Given the description of an element on the screen output the (x, y) to click on. 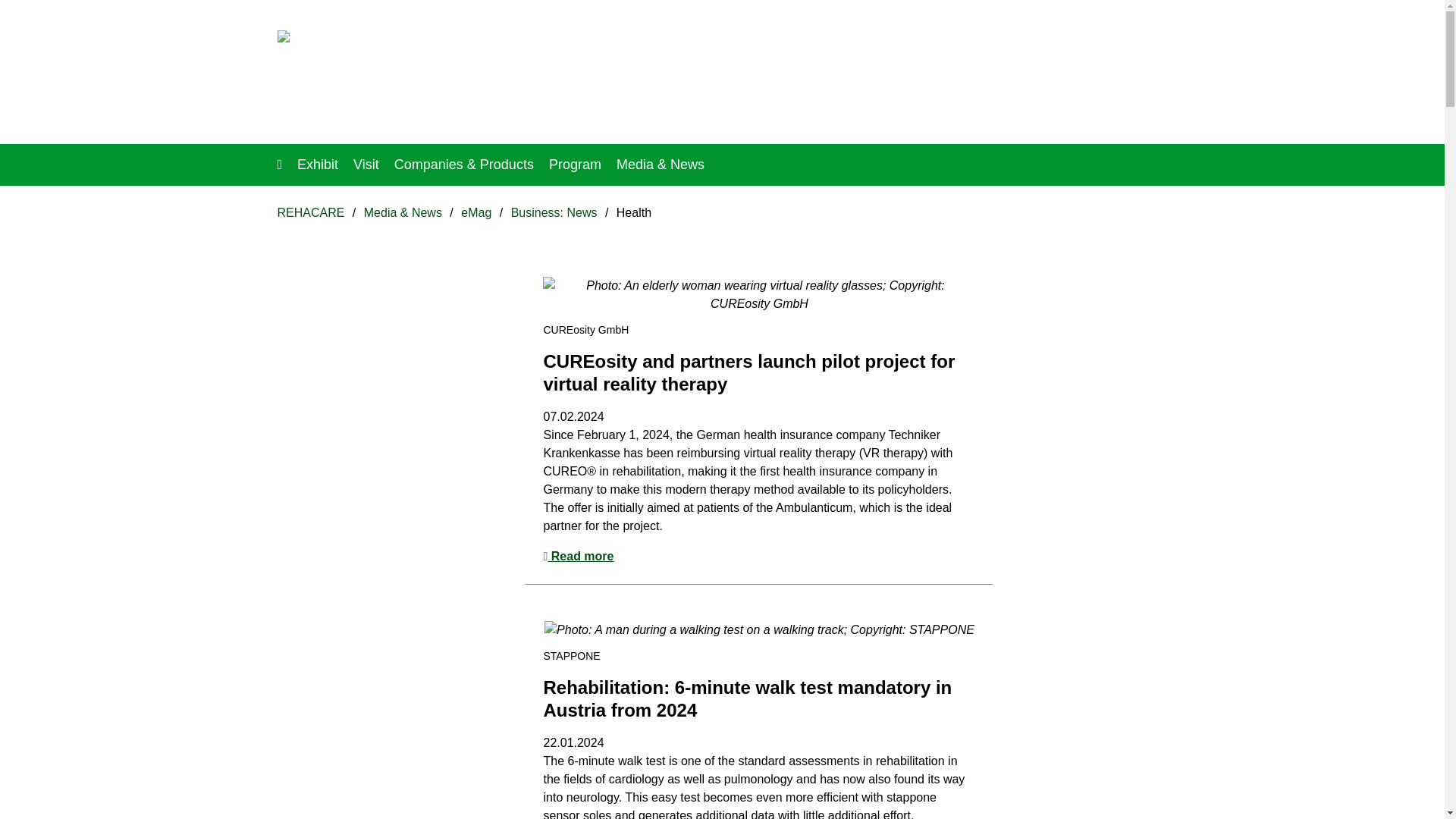
Exhibit (317, 164)
Visit (365, 164)
Exhibit (317, 164)
